Given the description of an element on the screen output the (x, y) to click on. 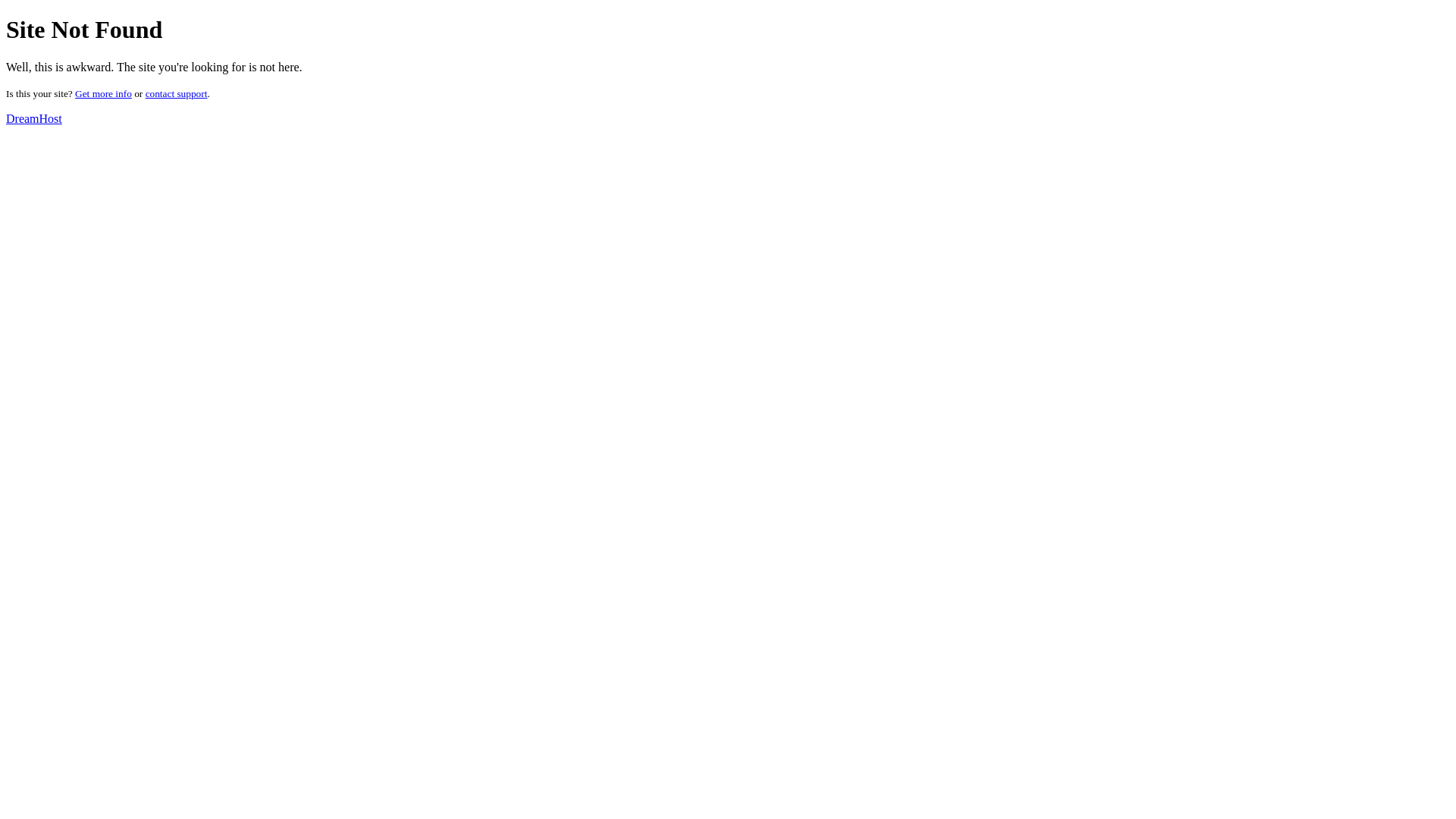
DreamHost Element type: text (34, 118)
Get more info Element type: text (103, 93)
contact support Element type: text (176, 93)
